Given the description of an element on the screen output the (x, y) to click on. 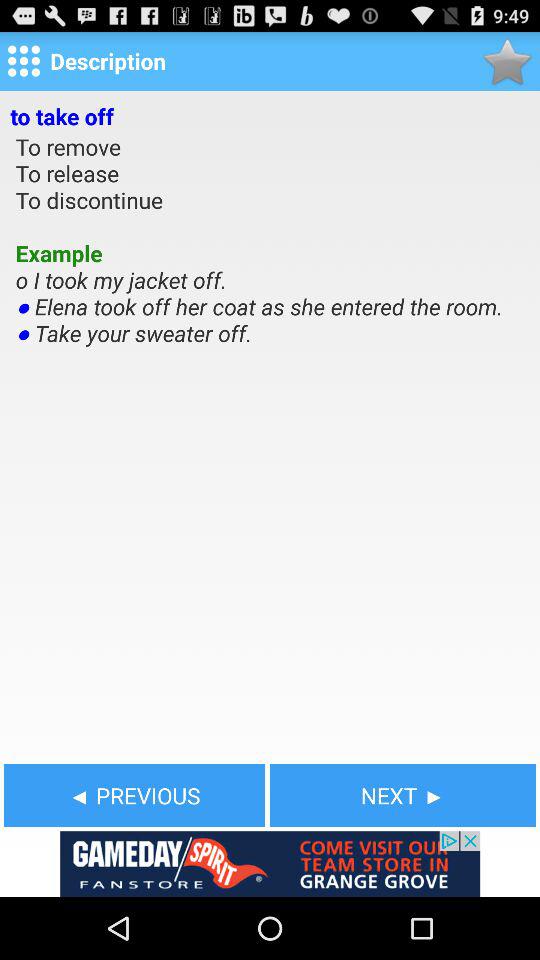
star description (506, 60)
